Given the description of an element on the screen output the (x, y) to click on. 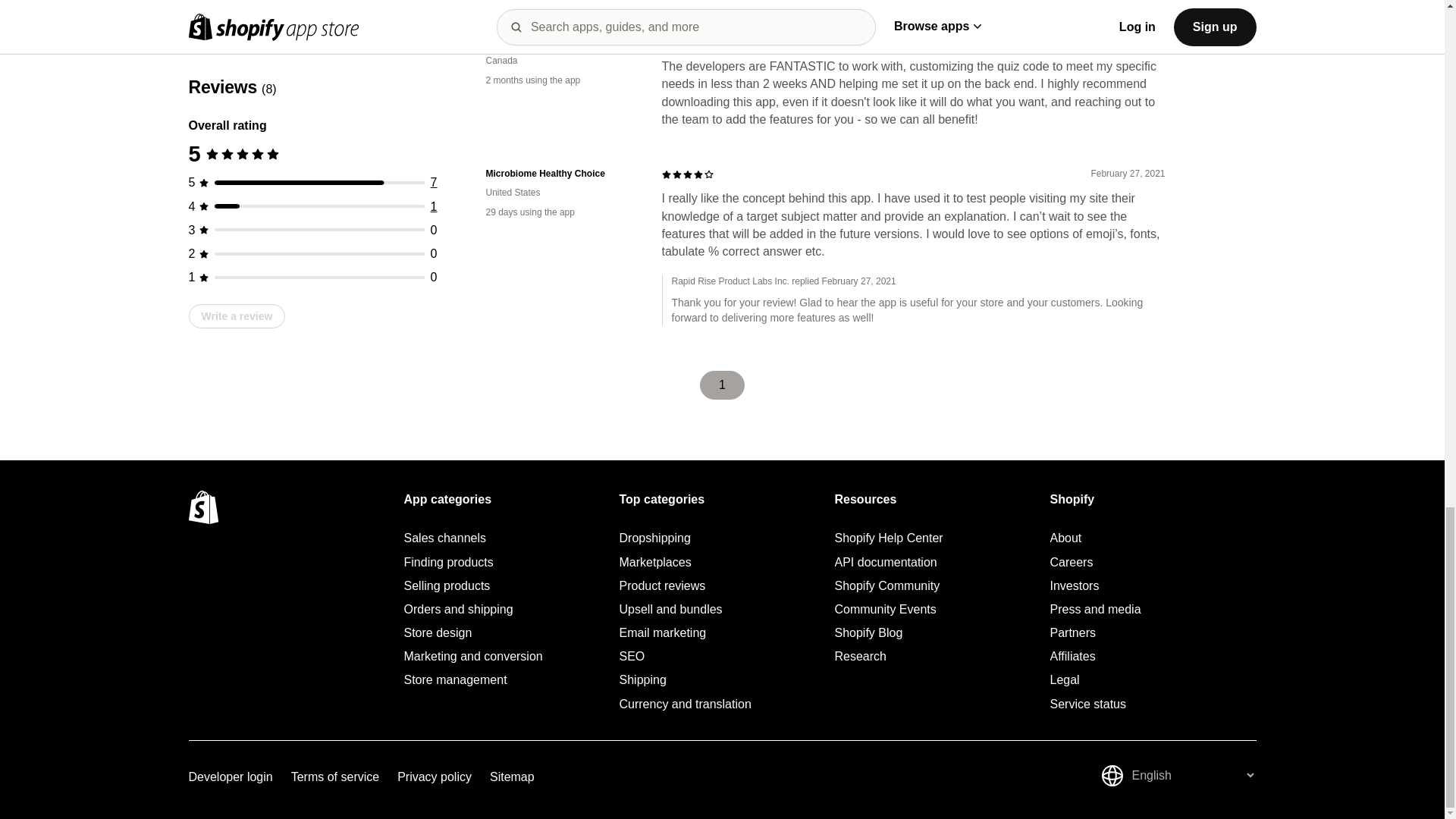
PureForm Pet Health Supplements (560, 42)
Microbiome Healthy Choice (560, 173)
